Given the description of an element on the screen output the (x, y) to click on. 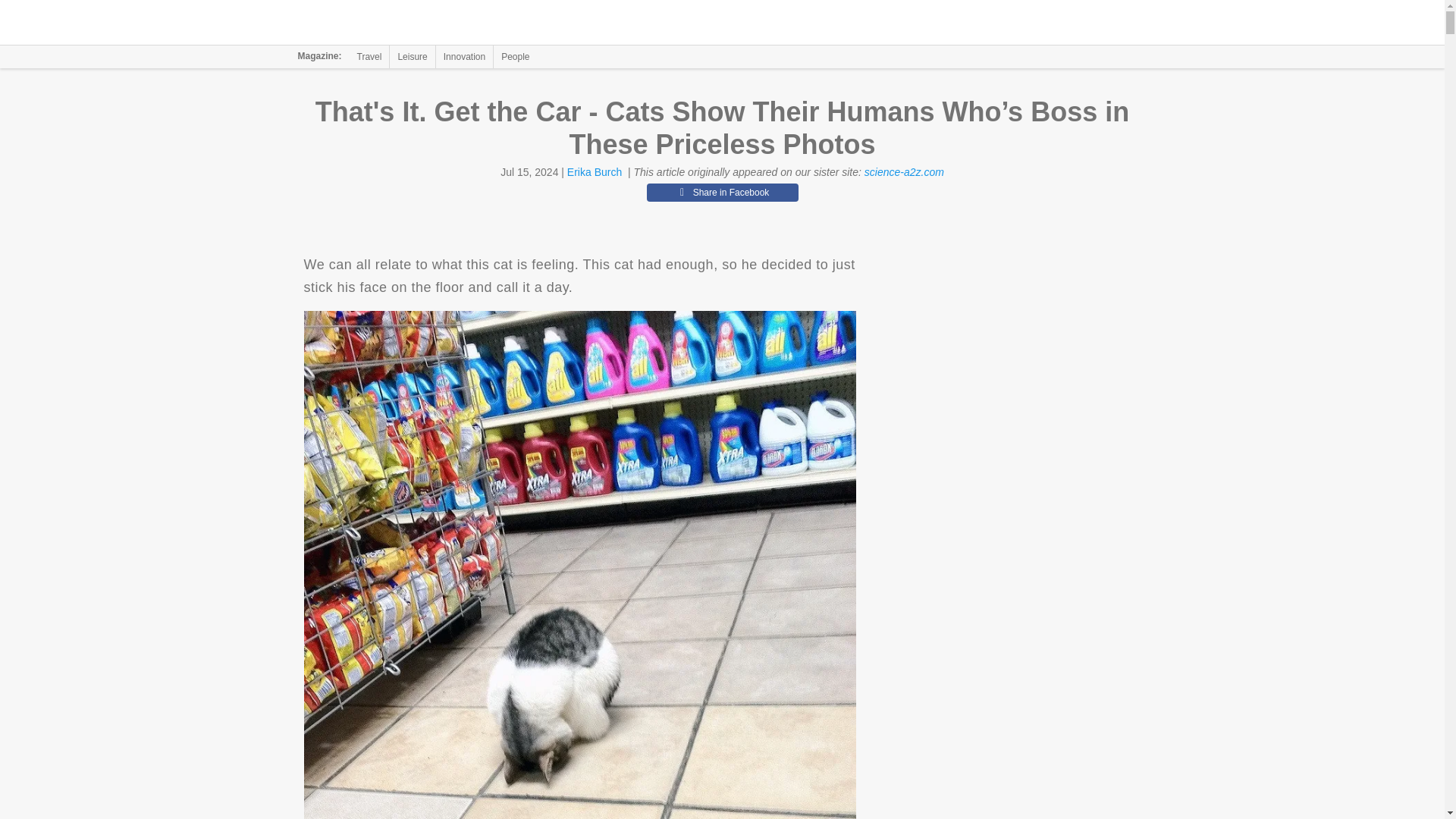
The Jerusalem Post Magazine (391, 22)
science-a2z.com (903, 172)
People (515, 56)
Share in Facebook (721, 192)
Erika Burch (594, 172)
Travel (369, 56)
Innovation (464, 56)
Leisure (411, 56)
